Given the description of an element on the screen output the (x, y) to click on. 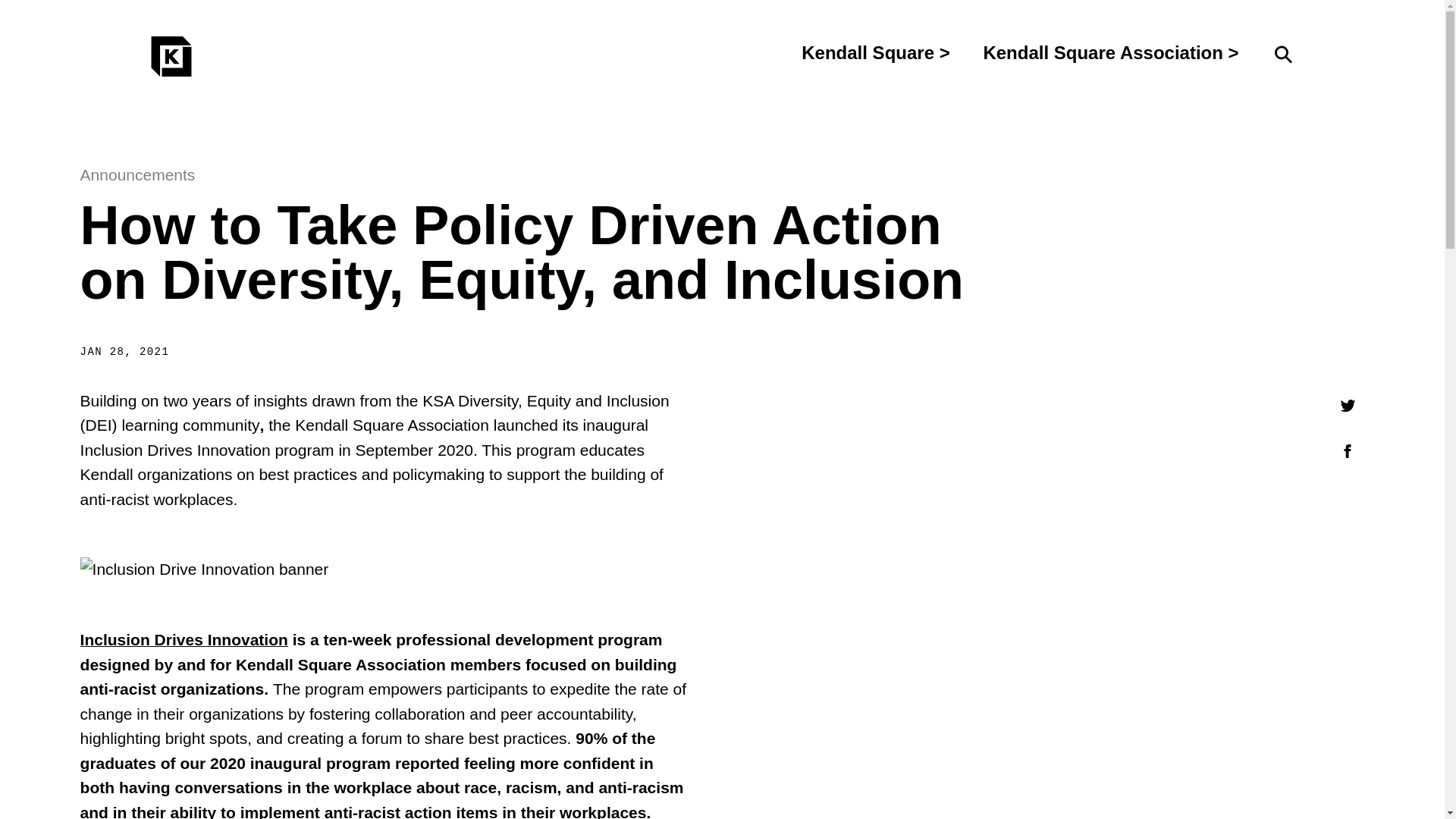
Share on Facebook (1347, 451)
Share on Twitter (1347, 406)
Announcements (137, 174)
Inclusion Drives Innovation (184, 639)
